Given the description of an element on the screen output the (x, y) to click on. 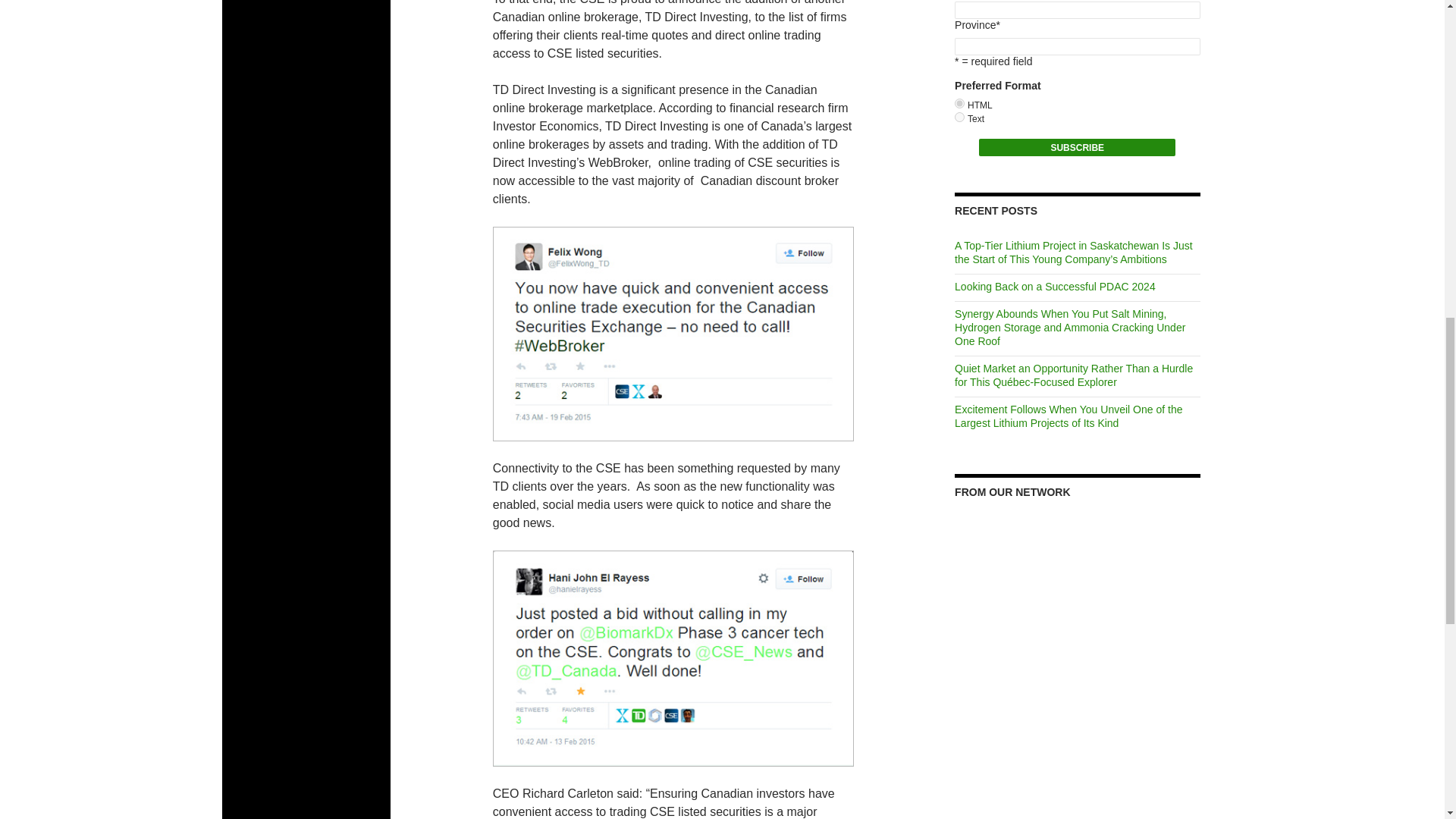
text (959, 117)
Subscribe (1076, 147)
html (959, 103)
Subscribe (1076, 147)
